Given the description of an element on the screen output the (x, y) to click on. 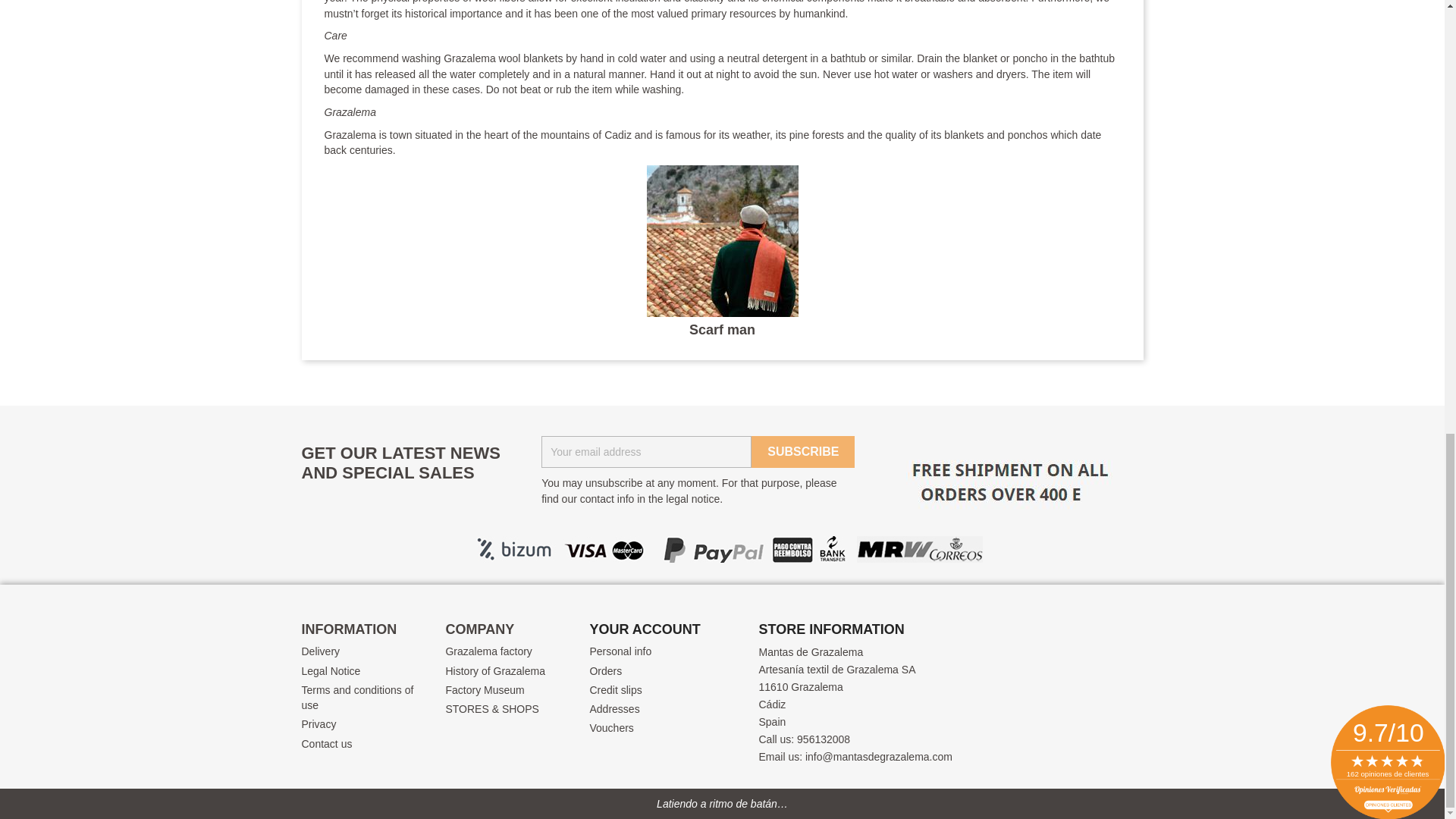
Subscribe (802, 451)
